Given the description of an element on the screen output the (x, y) to click on. 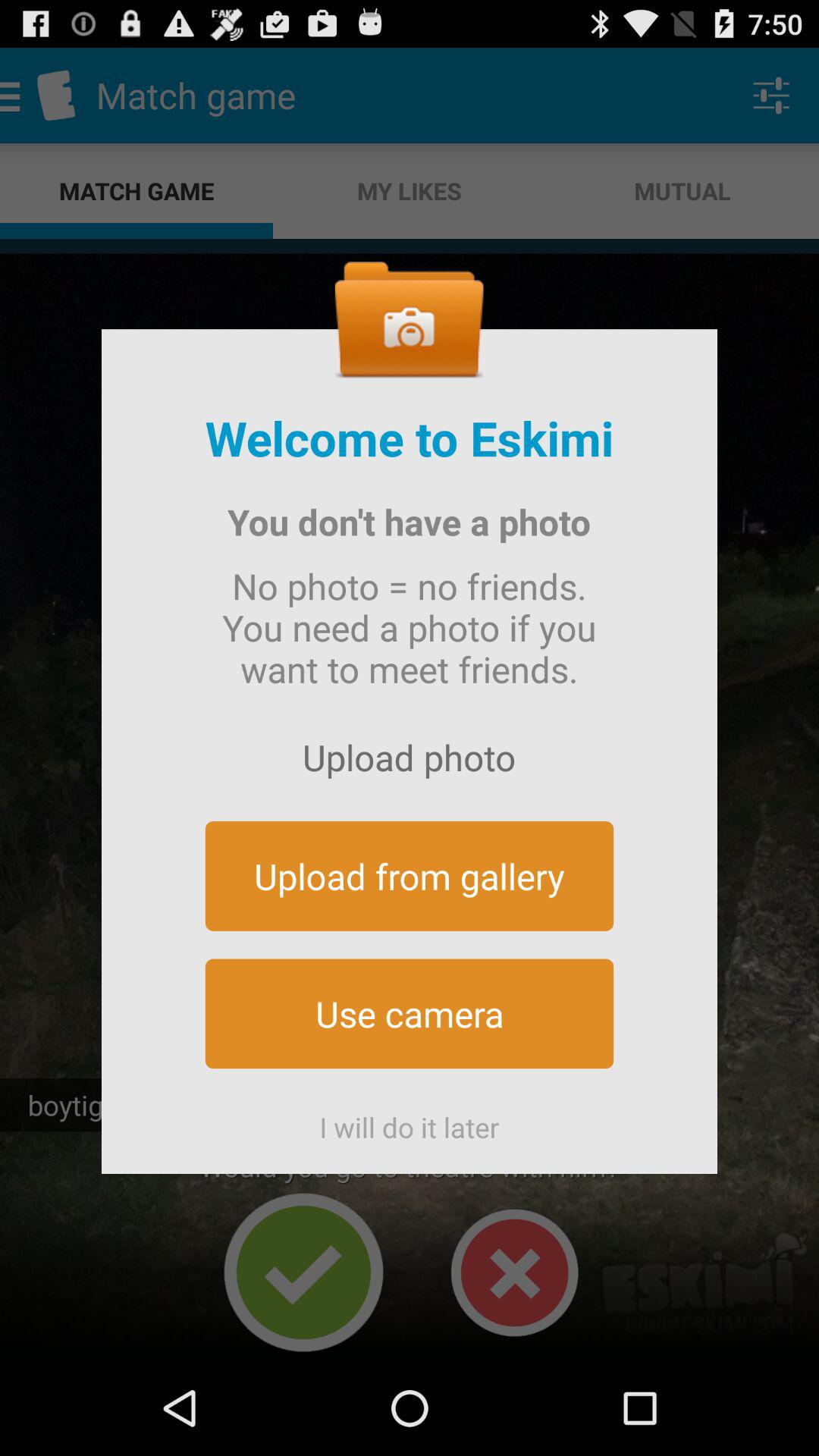
launch the button below the upload from gallery item (409, 1013)
